Given the description of an element on the screen output the (x, y) to click on. 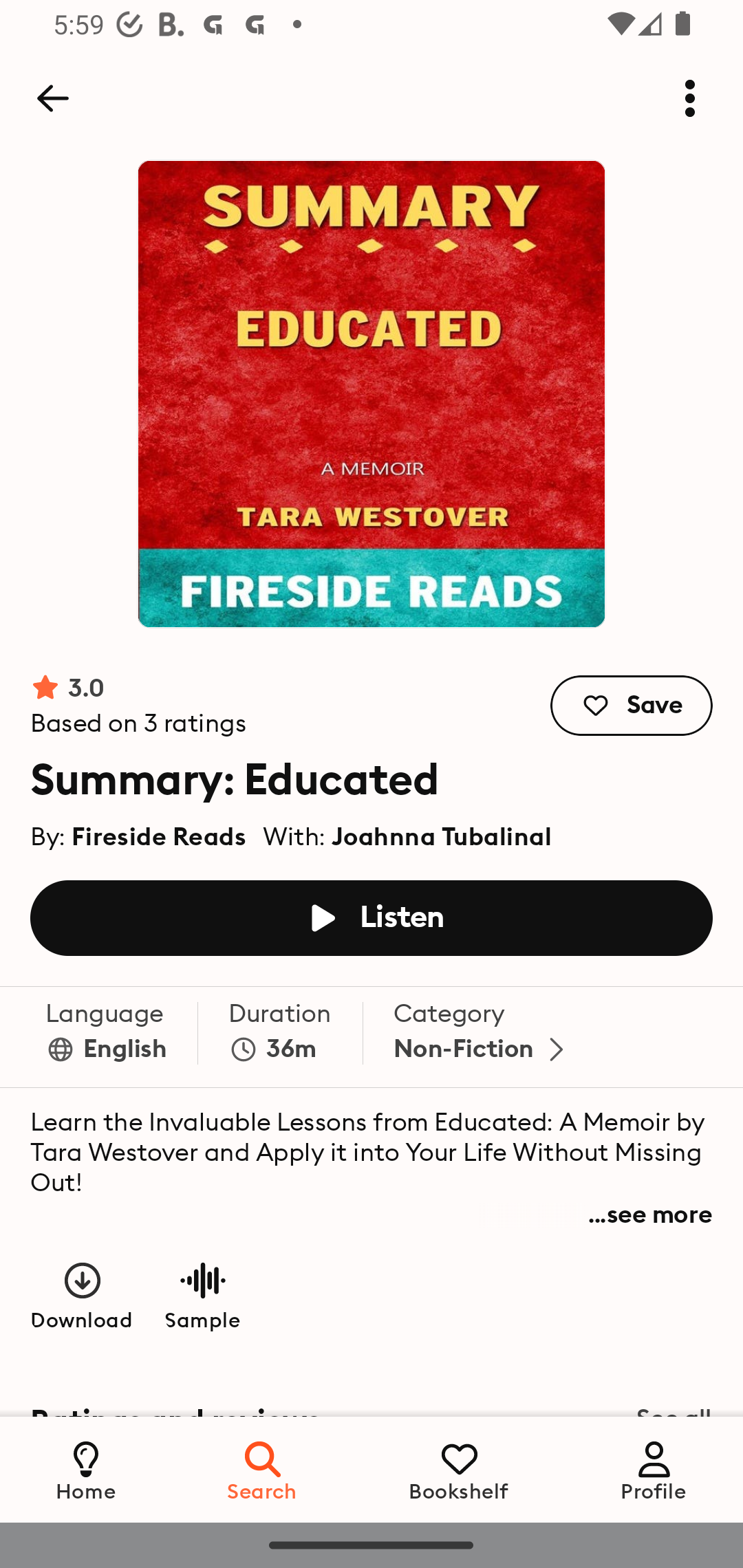
Back (52, 98)
More options (689, 98)
Rating 3.0 stars, out of 3 ratings (138, 705)
Save Save to bookshelf (631, 705)
By: Fireside Reads (138, 832)
With: Joahnna Tubalinal (407, 832)
Listen Listen to book (371, 917)
Category Non-Fiction (482, 1036)
Download book (82, 1294)
Play sample (202, 1294)
Home (85, 1468)
Search (262, 1468)
Bookshelf (458, 1468)
Profile (653, 1468)
